Given the description of an element on the screen output the (x, y) to click on. 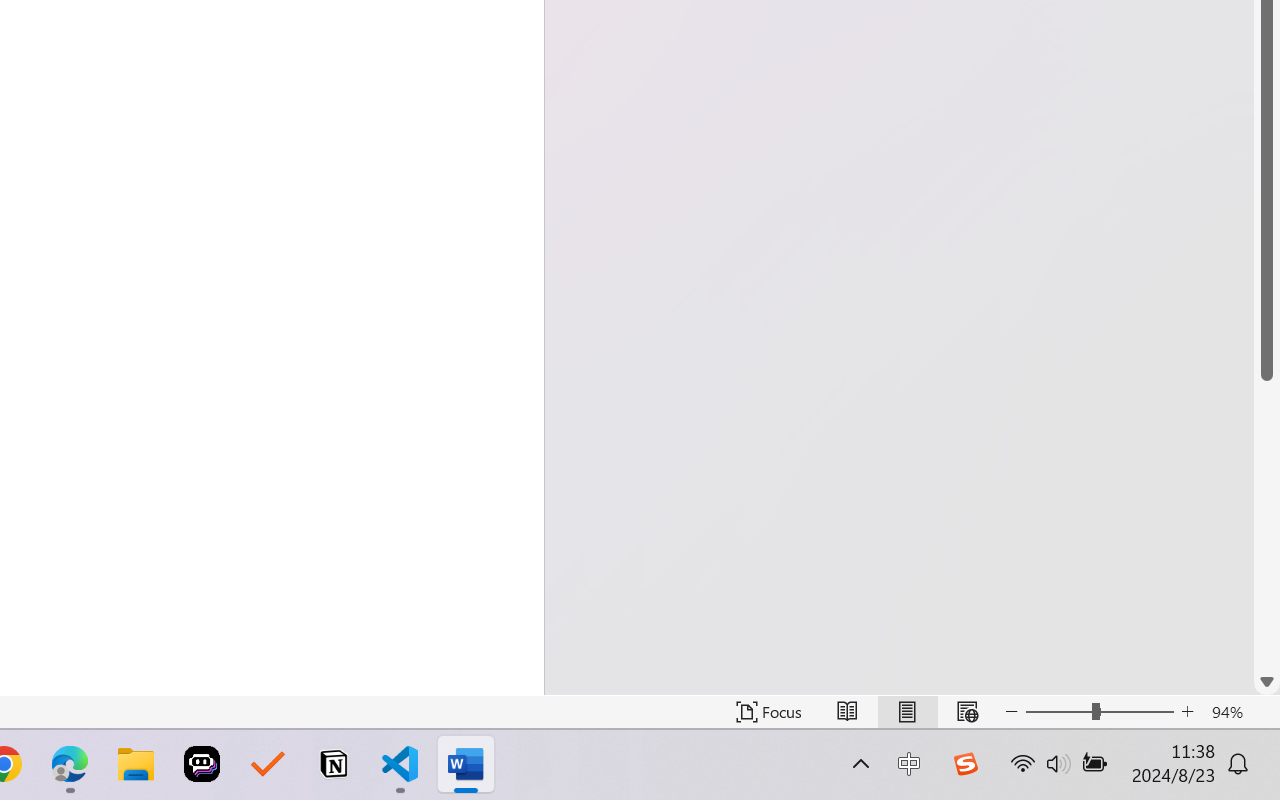
Page down (1267, 524)
Line down (1267, 681)
